Given the description of an element on the screen output the (x, y) to click on. 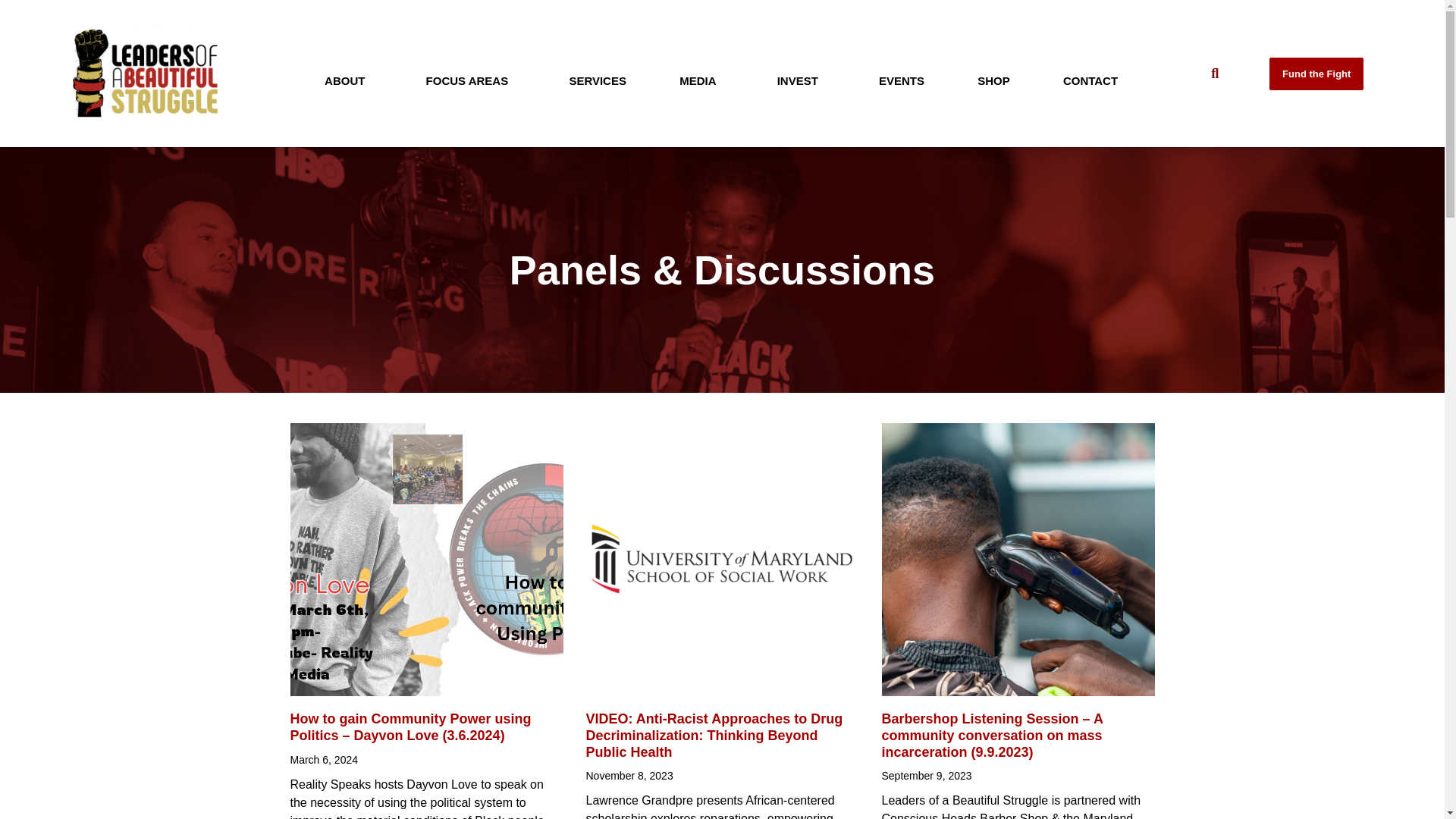
ABOUT (348, 80)
MEDIA (701, 80)
SHOP (993, 80)
EVENTS (900, 80)
SERVICES (596, 80)
LBS logo (145, 73)
INVEST (801, 80)
FOCUS AREAS (469, 80)
CONTACT (1090, 80)
